Given the description of an element on the screen output the (x, y) to click on. 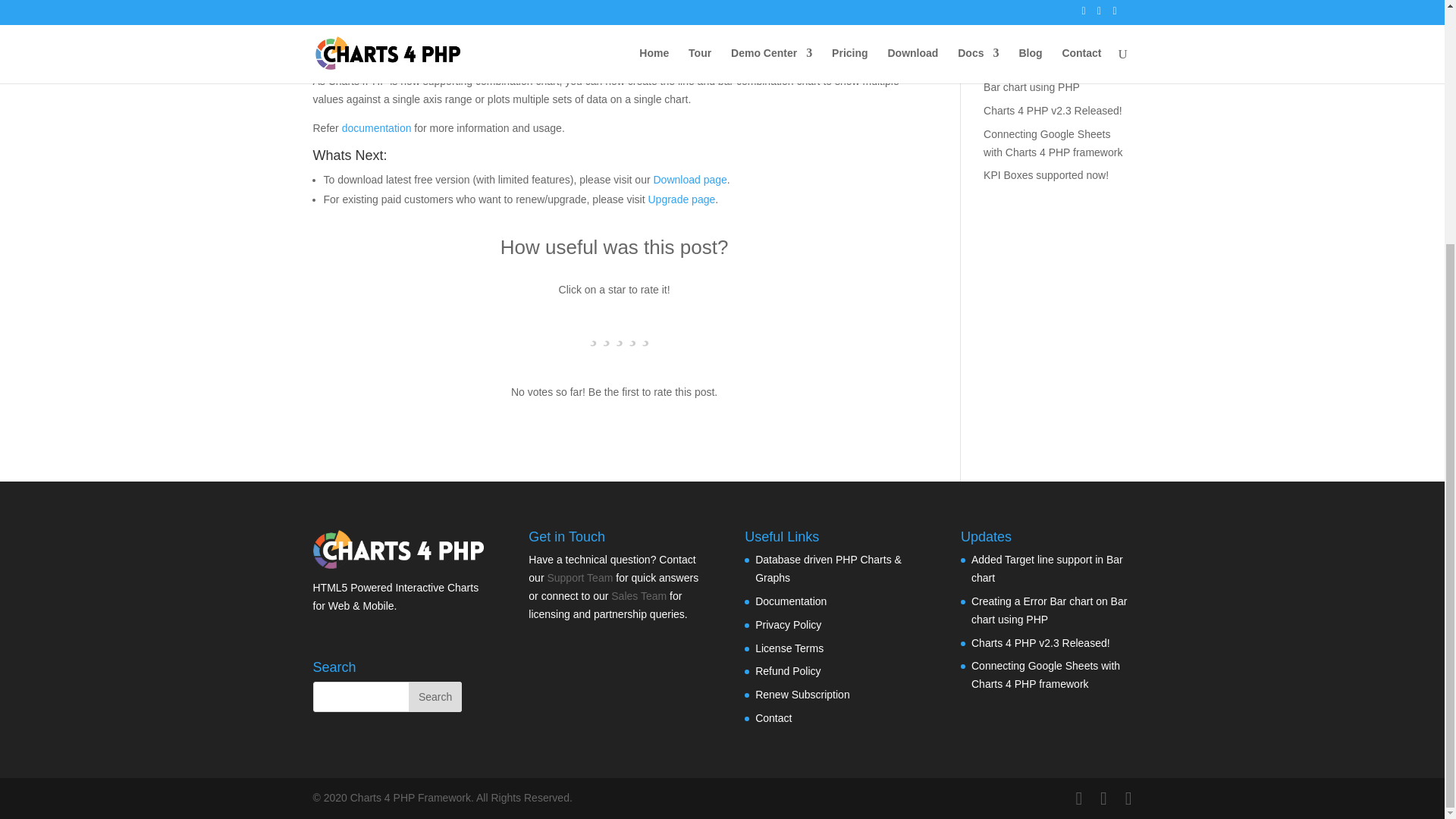
Sales Team (638, 595)
Search (435, 696)
KPI Boxes supported now! (1046, 174)
Upgrade page (680, 199)
Support Team (579, 577)
Added Target line support in Bar chart (1049, 37)
Creating a Error Bar chart on Bar chart using PHP (1051, 78)
Charts 4 PHP v2.3 Released! (1053, 110)
Download (689, 179)
Connecting Google Sheets with Charts 4 PHP framework (1053, 142)
